Given the description of an element on the screen output the (x, y) to click on. 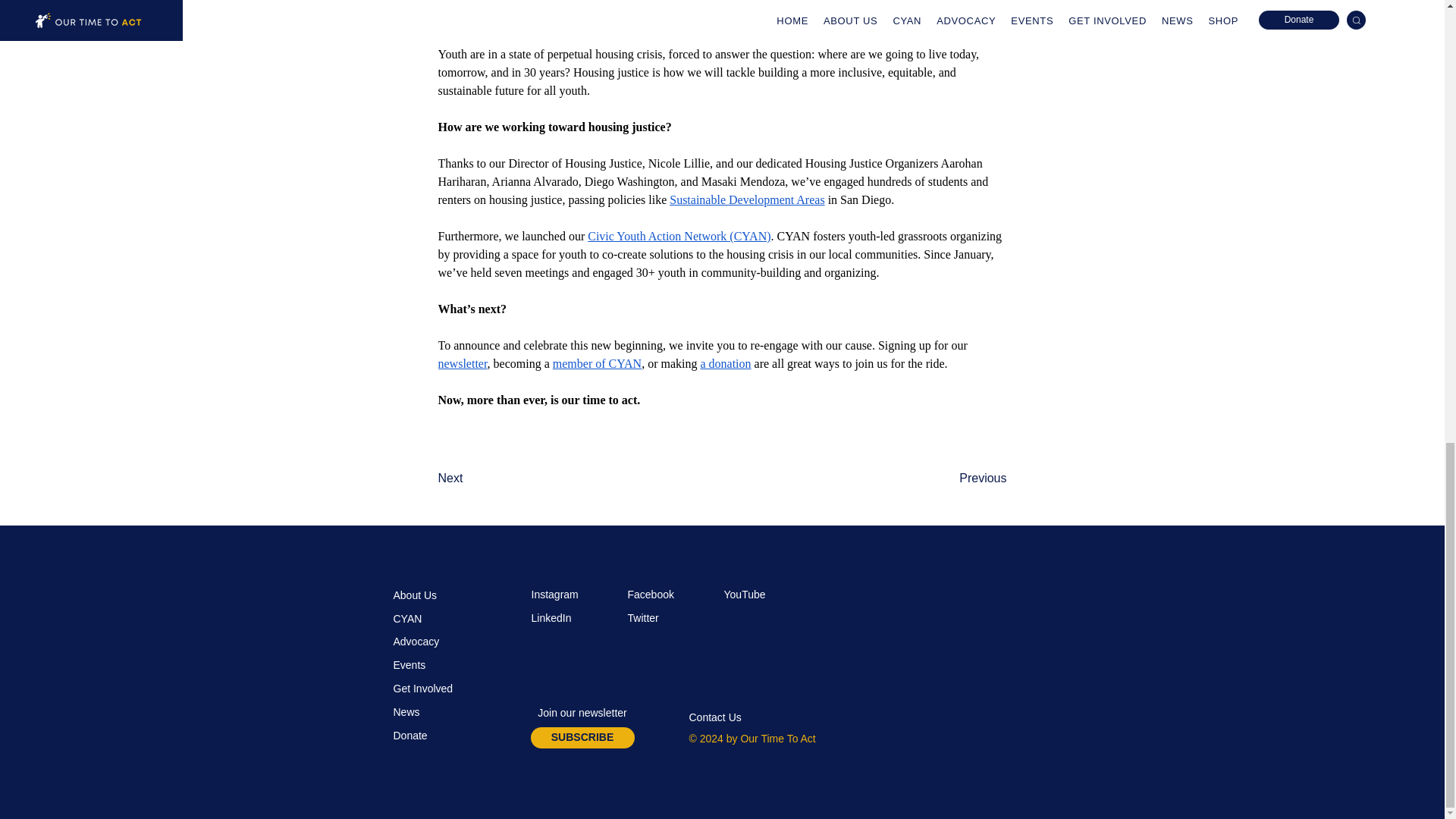
Previous (969, 478)
CYAN (407, 618)
Sustainable Development Areas (746, 199)
a donation (725, 363)
Next (487, 478)
newsletter (462, 363)
Advocacy (416, 641)
About Us (414, 594)
member of CYAN (597, 363)
